Given the description of an element on the screen output the (x, y) to click on. 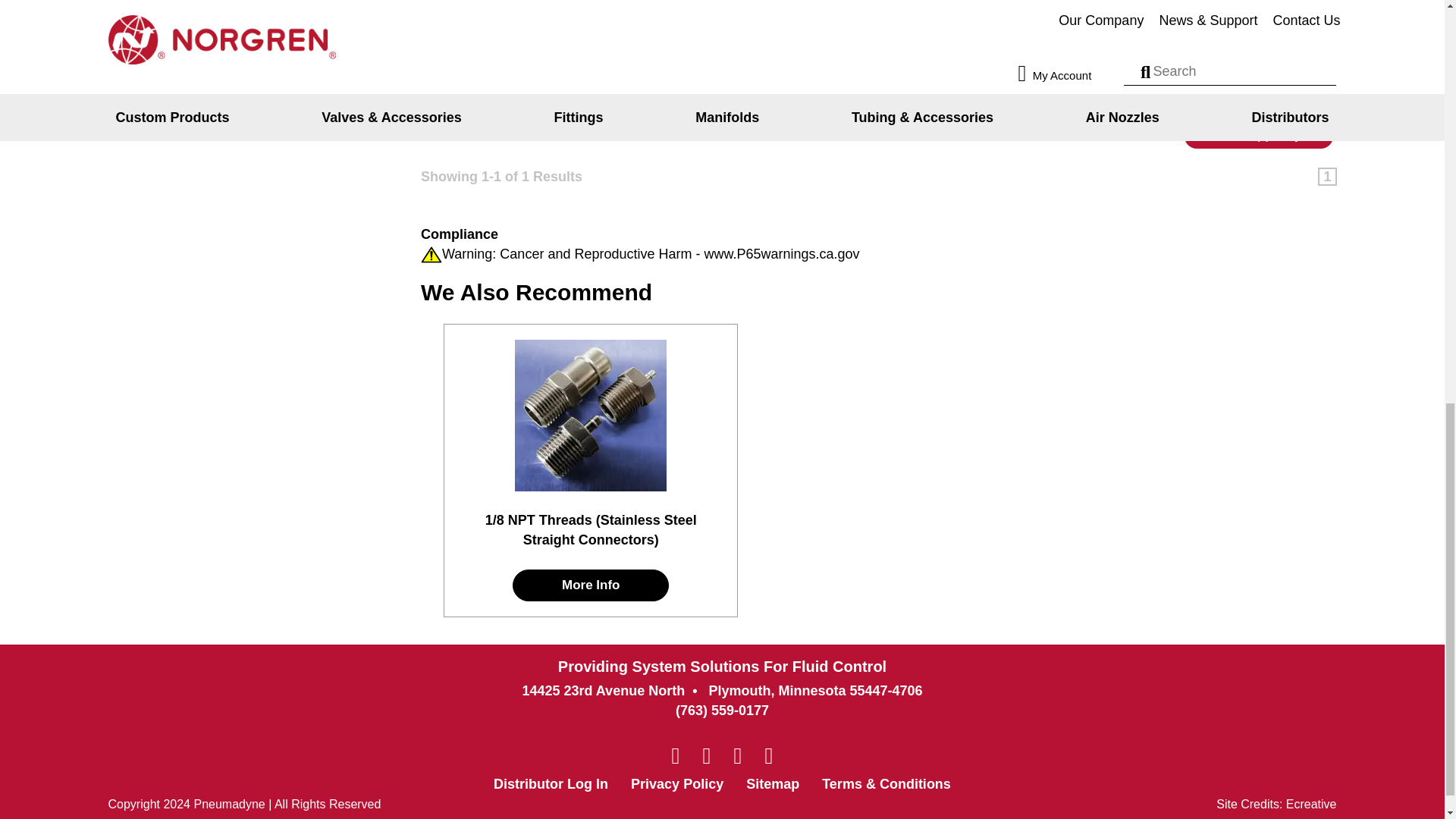
0 (1314, 47)
